Given the description of an element on the screen output the (x, y) to click on. 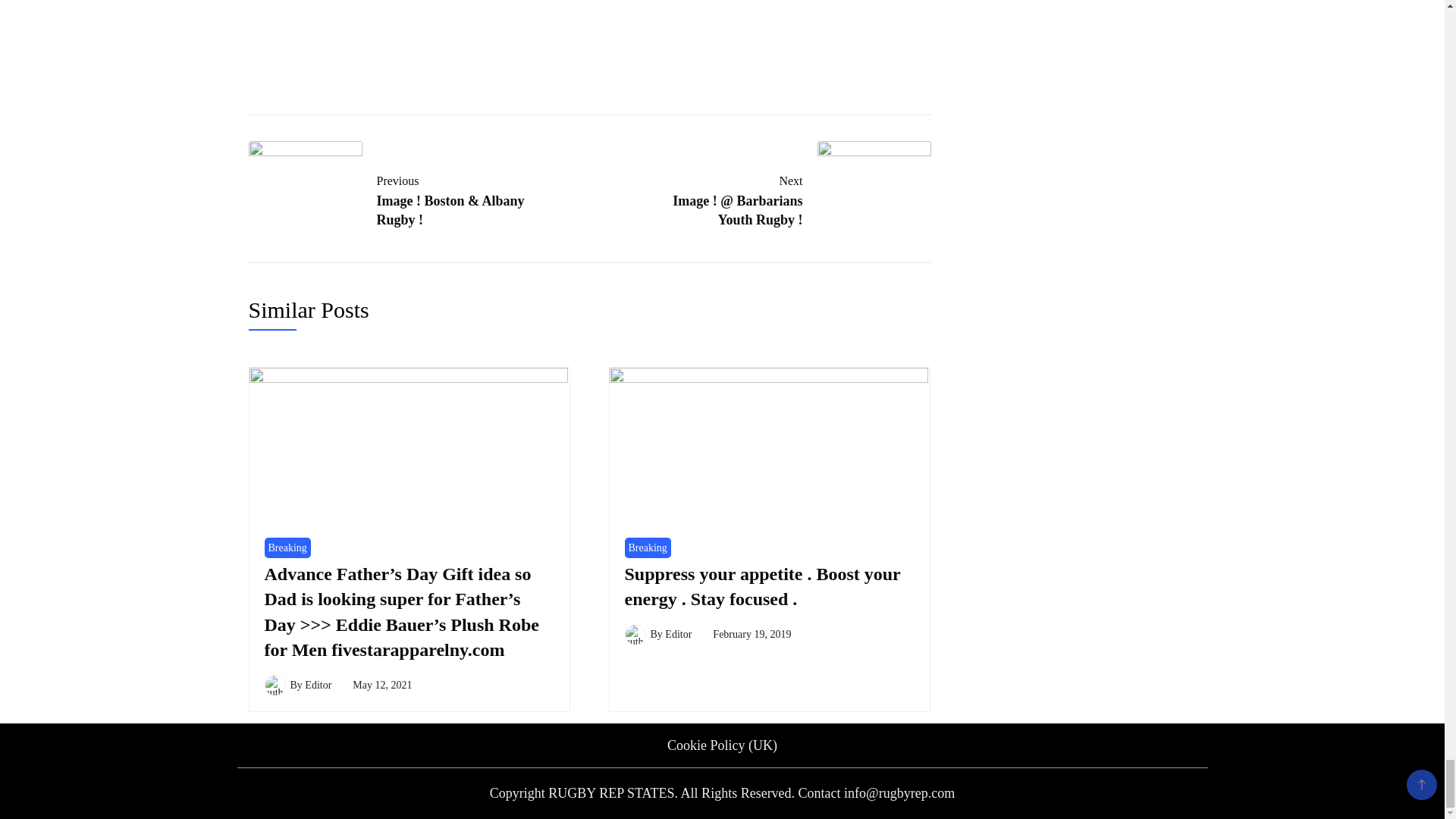
Suppress your appetite . Boost your energy . Stay focused . (762, 586)
Breaking (647, 547)
Editor (317, 685)
May 12, 2021 (382, 685)
Breaking (286, 547)
February 19, 2019 (751, 633)
Editor (678, 633)
